Given the description of an element on the screen output the (x, y) to click on. 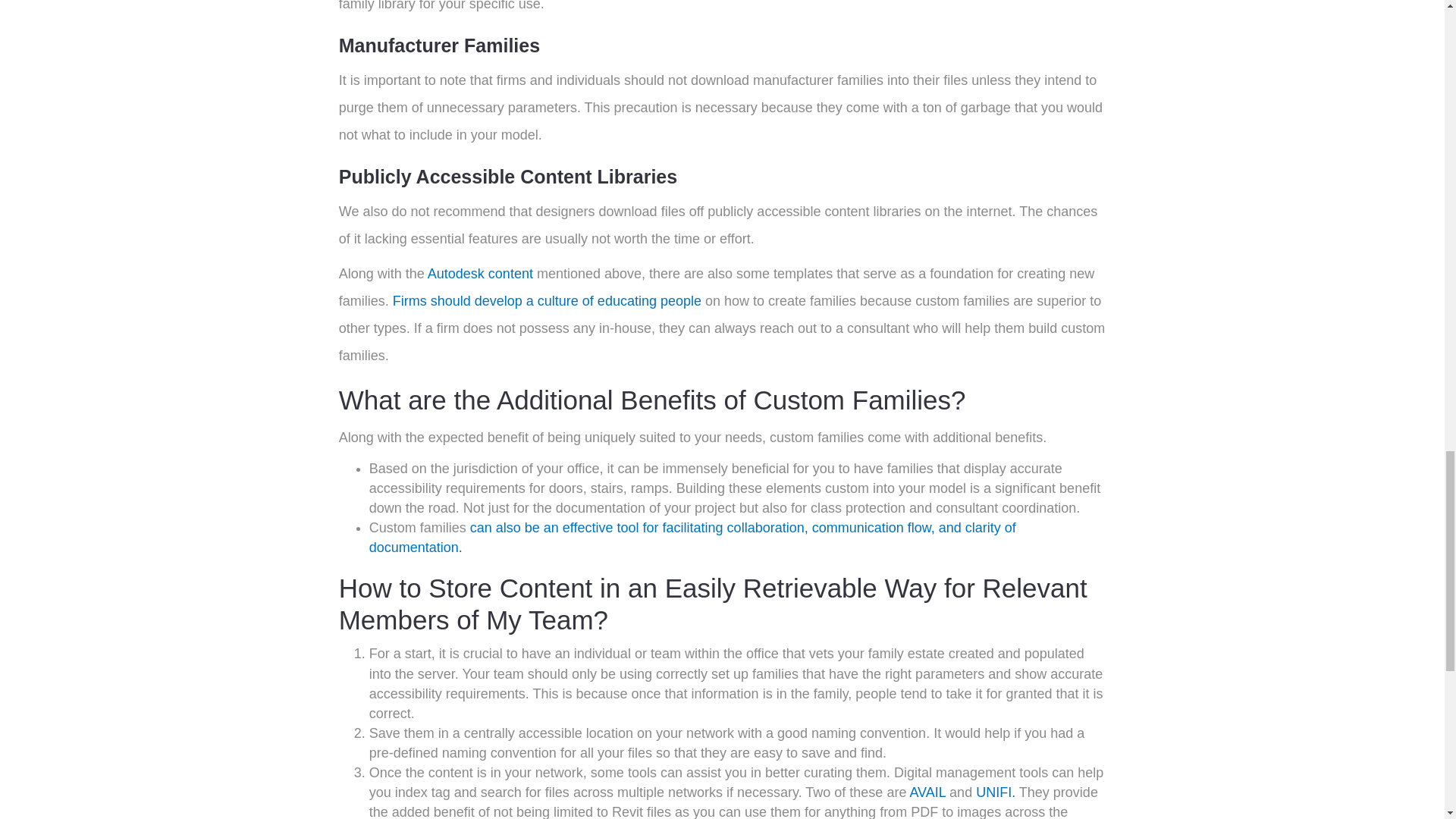
AVAIL (926, 792)
Autodesk content (480, 273)
UNIFI. (994, 792)
Firms should develop a culture of educating people (547, 300)
